Given the description of an element on the screen output the (x, y) to click on. 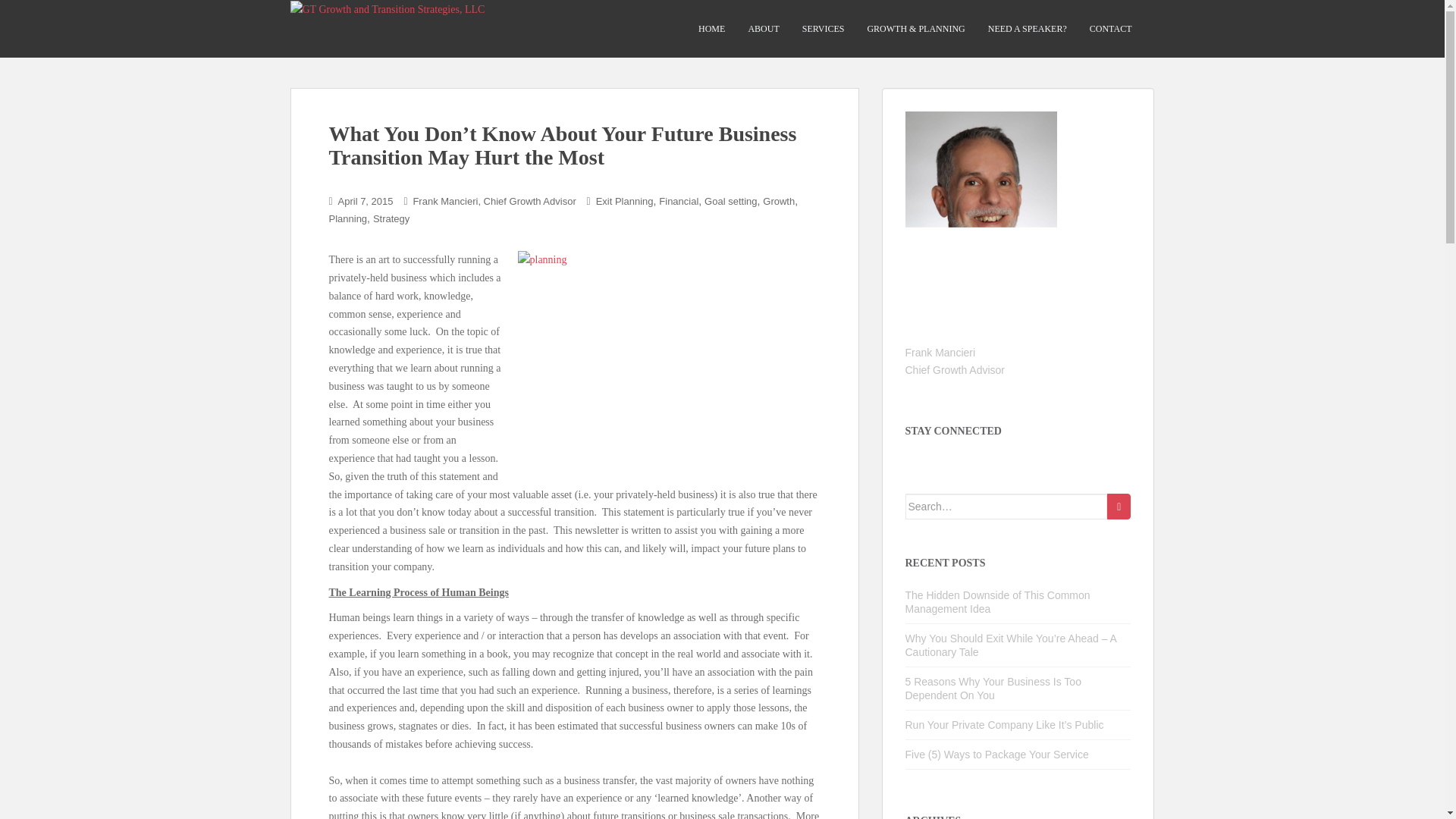
Strategy (390, 218)
Financial (678, 201)
Search (1118, 506)
Need A Speaker? (1027, 28)
SERVICES (823, 28)
NEED A SPEAKER? (1027, 28)
CONTACT (1110, 28)
Exit Planning (624, 201)
April 7, 2015 (365, 201)
Home (711, 28)
5 Reasons Why Your Business Is Too Dependent On You (993, 688)
Goal setting (730, 201)
About (763, 28)
HOME (711, 28)
Growth (778, 201)
